Given the description of an element on the screen output the (x, y) to click on. 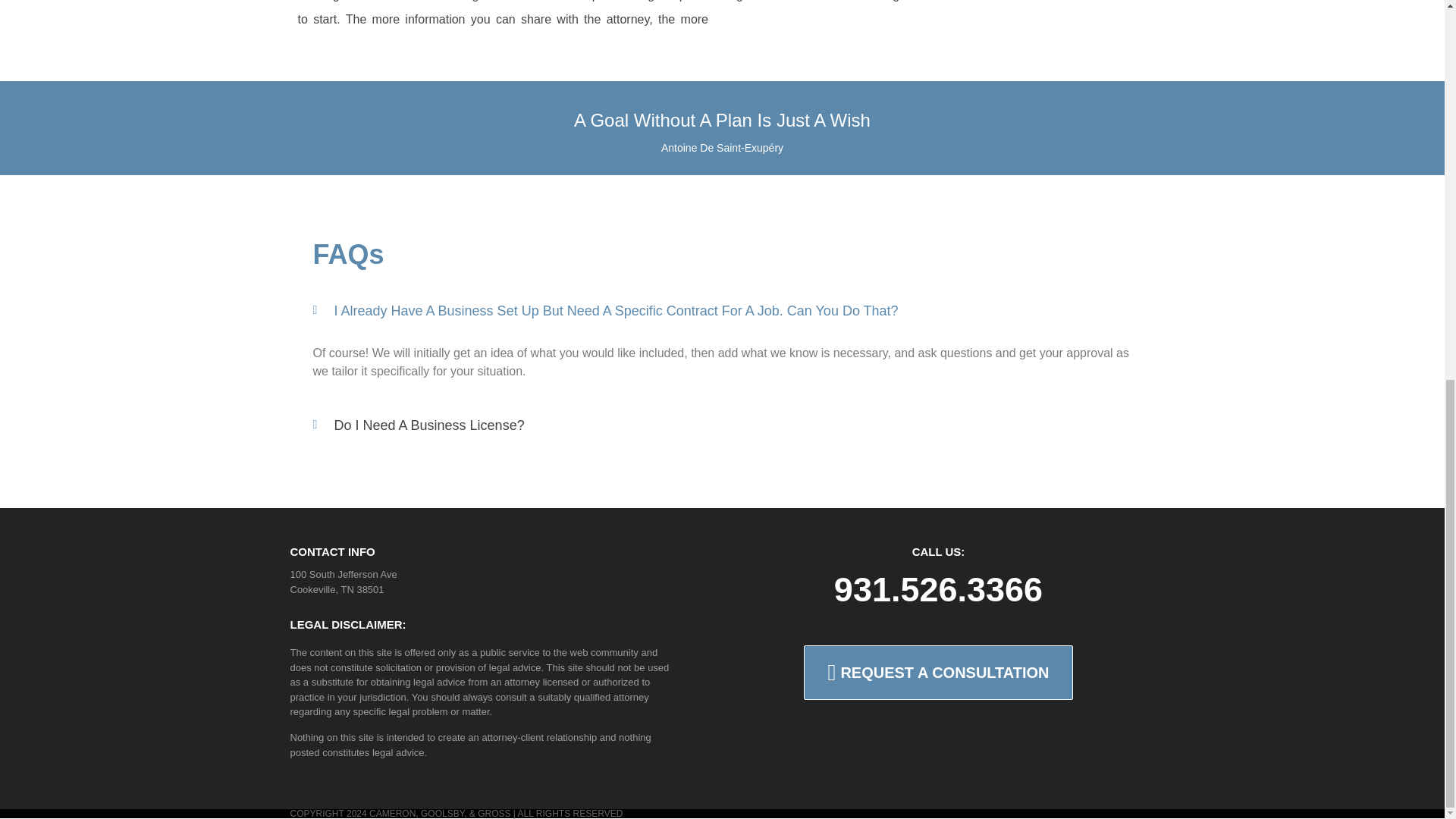
REQUEST A CONSULTATION (937, 672)
Do I Need A Business License? (428, 425)
